Given the description of an element on the screen output the (x, y) to click on. 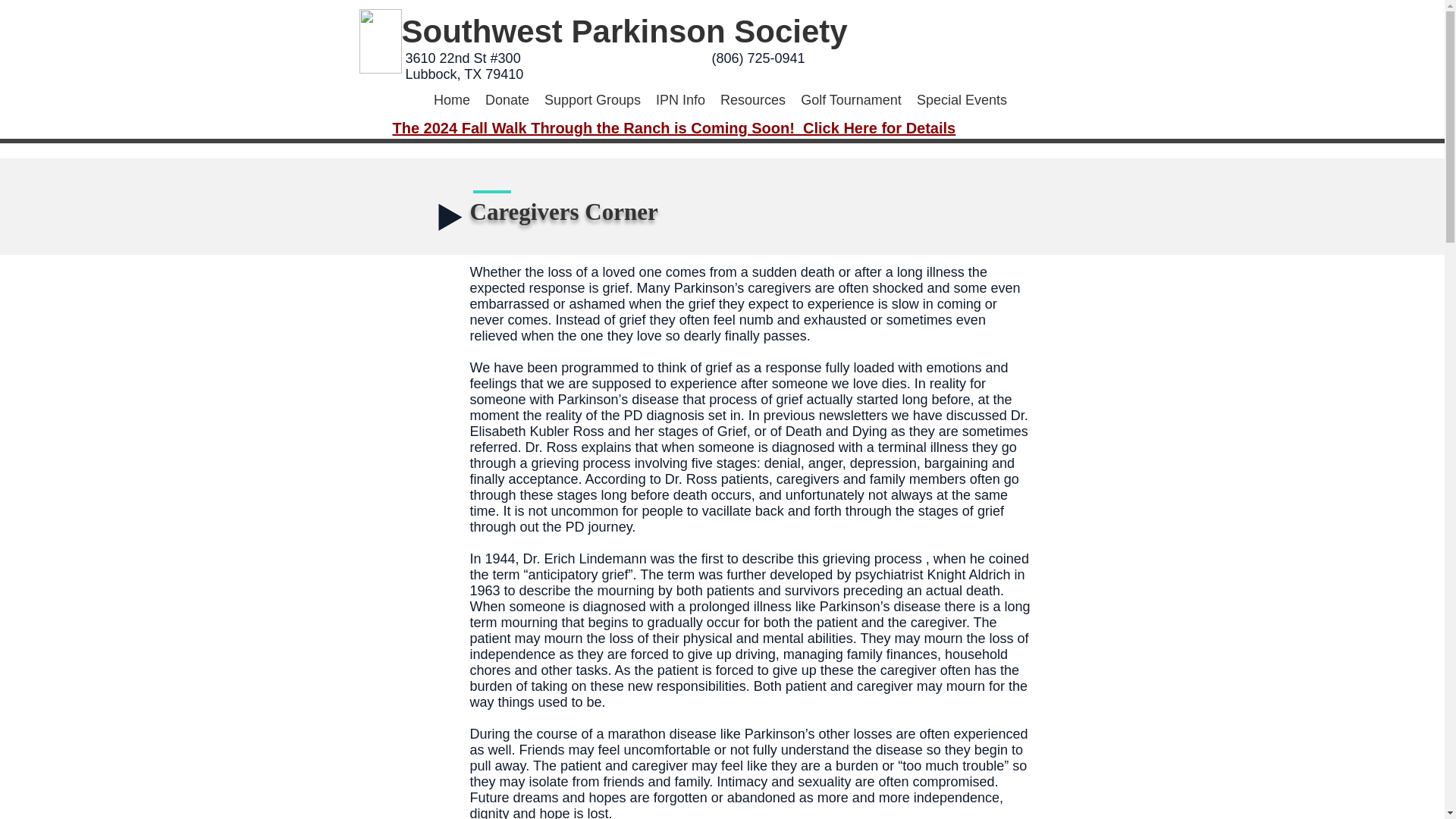
Resources (753, 99)
Special Events (961, 99)
IPN Info (680, 99)
Support Groups (592, 99)
Southwest Parkinson Society (624, 31)
Golf Tournament (850, 99)
Donate (507, 99)
Home (451, 99)
